Given the description of an element on the screen output the (x, y) to click on. 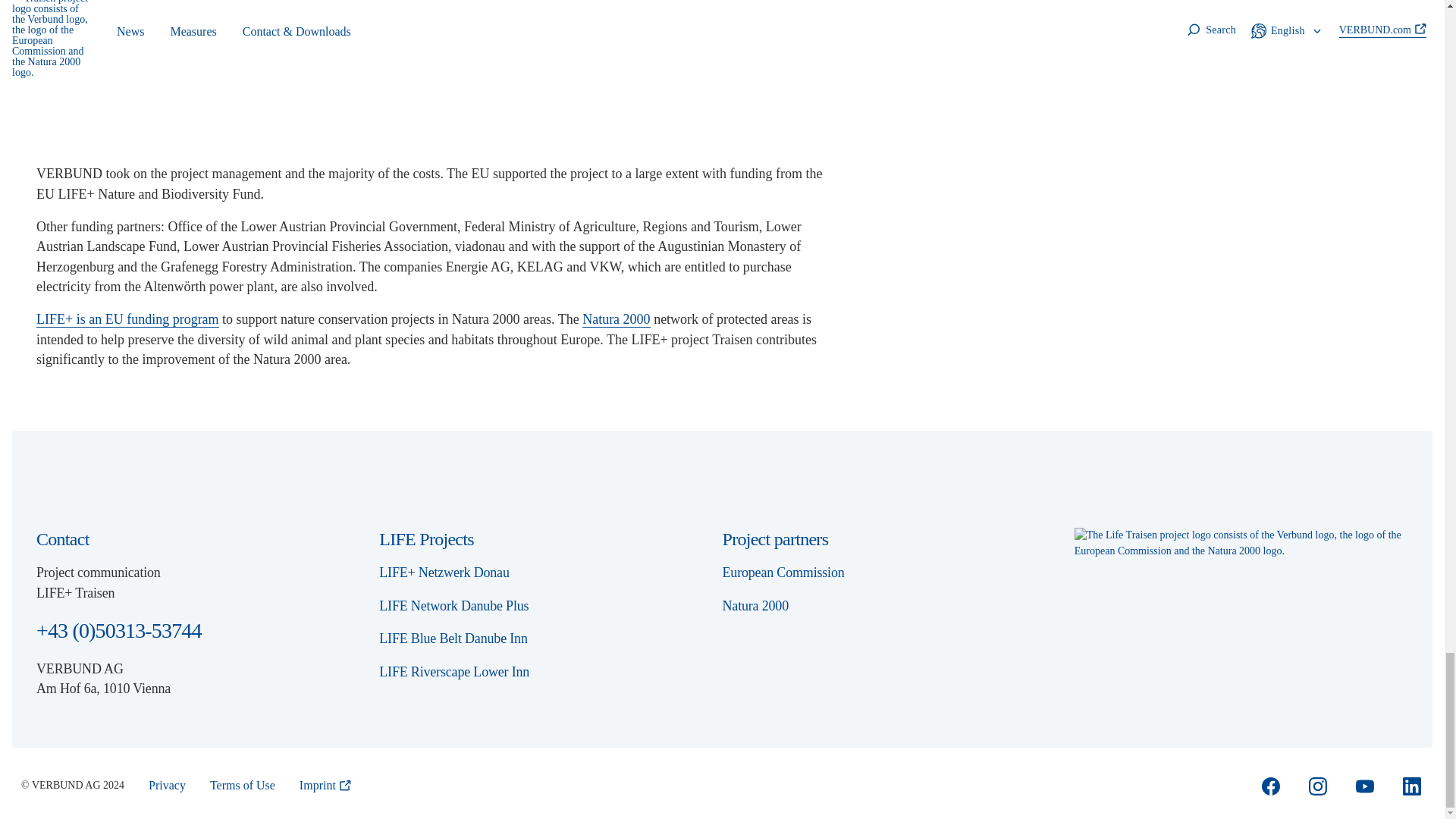
LIFE Network Danube Plus (461, 605)
Natura 2000 (615, 319)
Natura 2000 (248, 20)
